Given the description of an element on the screen output the (x, y) to click on. 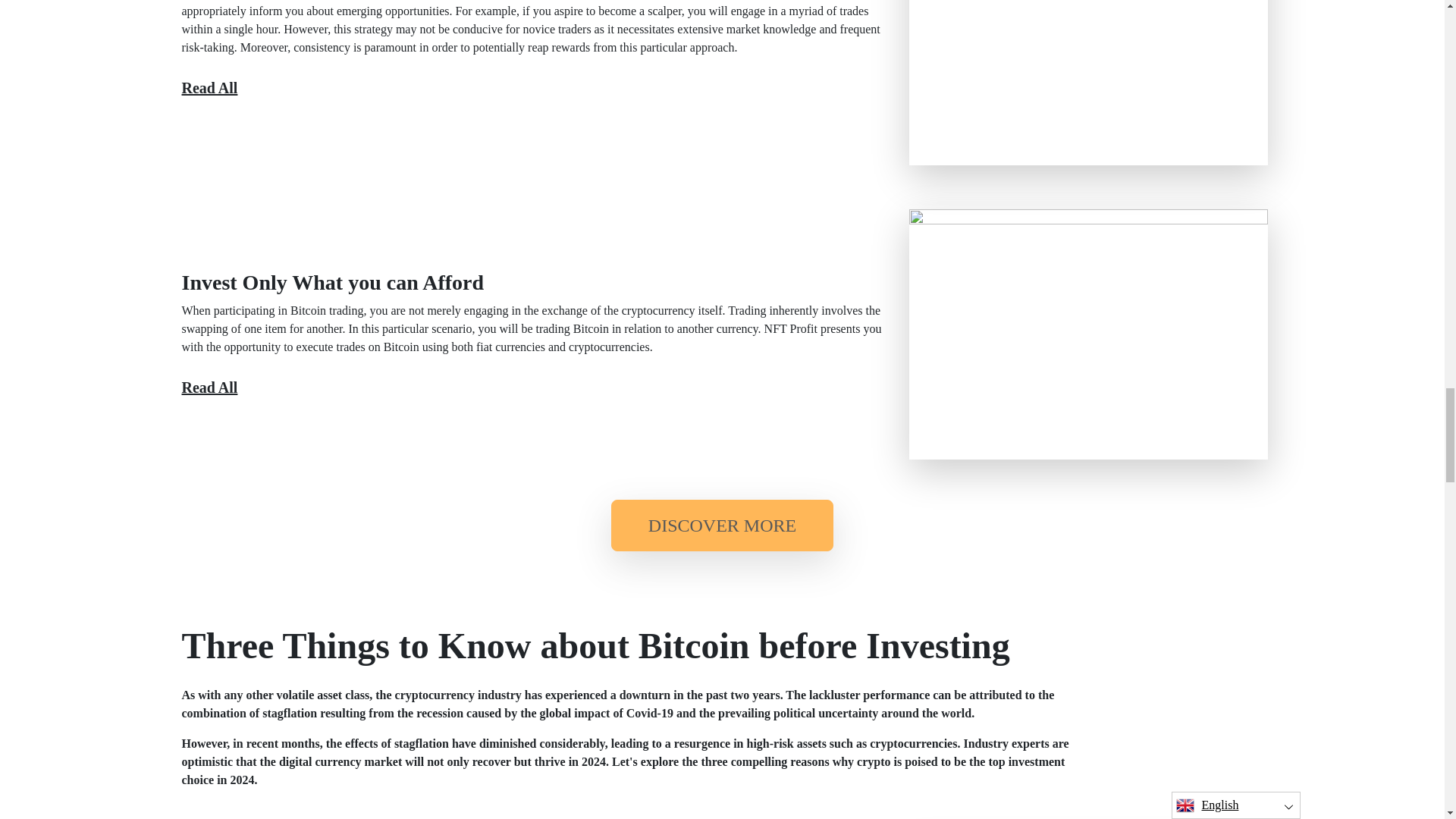
DISCOVER MORE (721, 525)
